Given the description of an element on the screen output the (x, y) to click on. 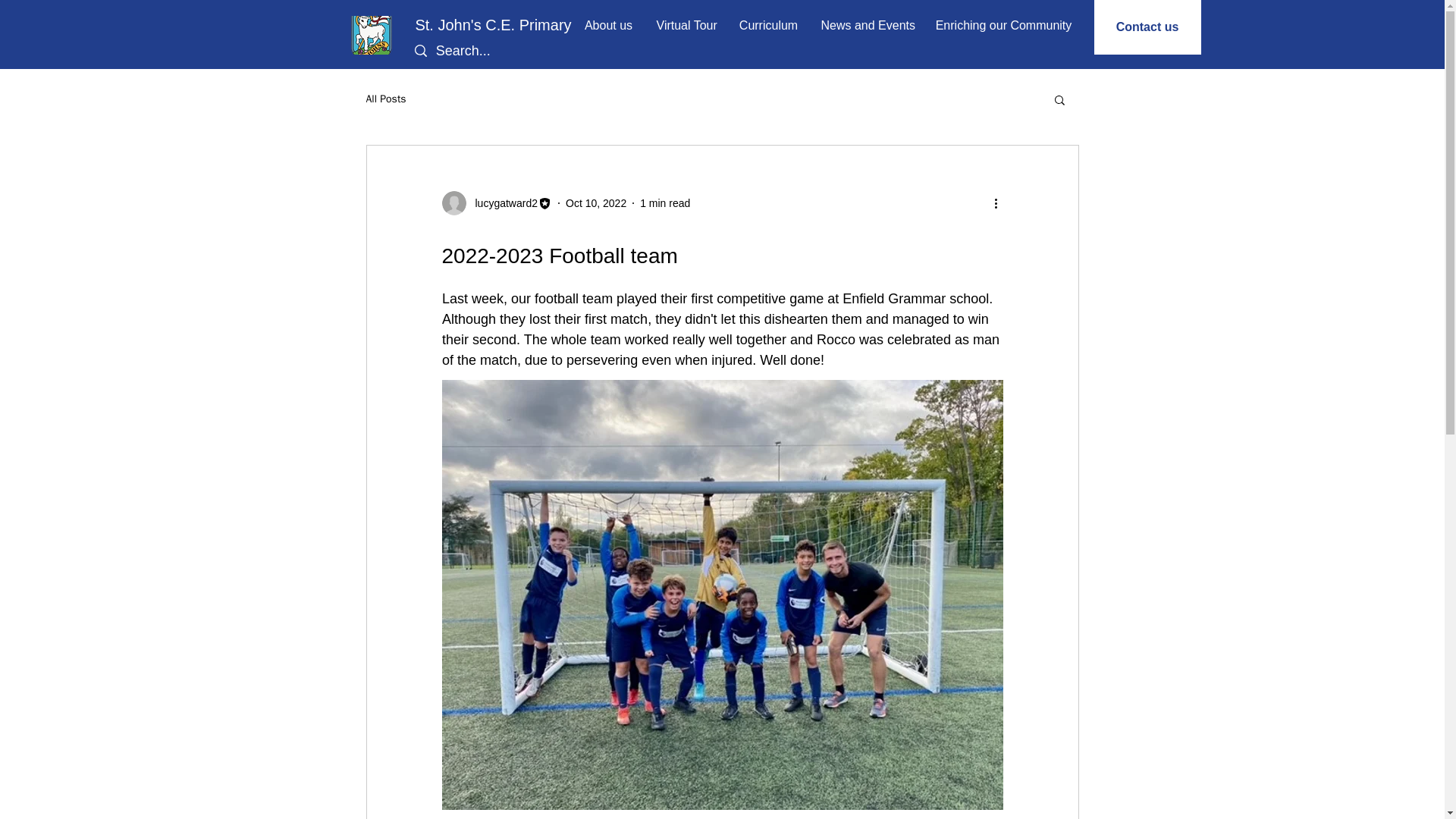
Curriculum (768, 25)
Oct 10, 2022 (596, 203)
1 min read (665, 203)
St. John's C.E. Primary (492, 24)
Virtual Tour (685, 25)
About us (608, 25)
lucygatward2 (501, 203)
